Given the description of an element on the screen output the (x, y) to click on. 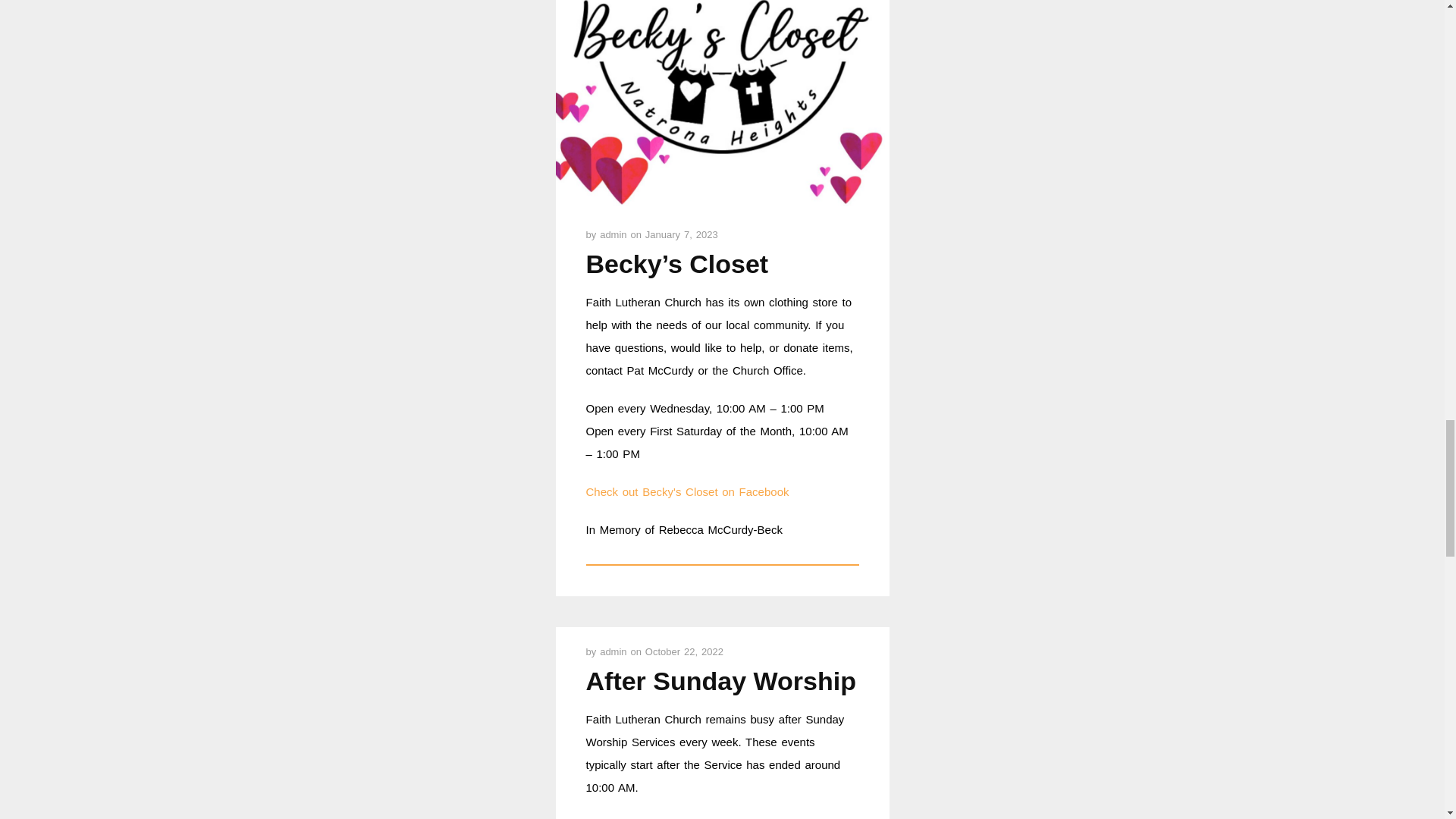
After Sunday Worship (720, 680)
After Sunday Worship (720, 680)
admin (614, 234)
Check out Becky's Closet on Facebook (687, 491)
admin (614, 651)
